Given the description of an element on the screen output the (x, y) to click on. 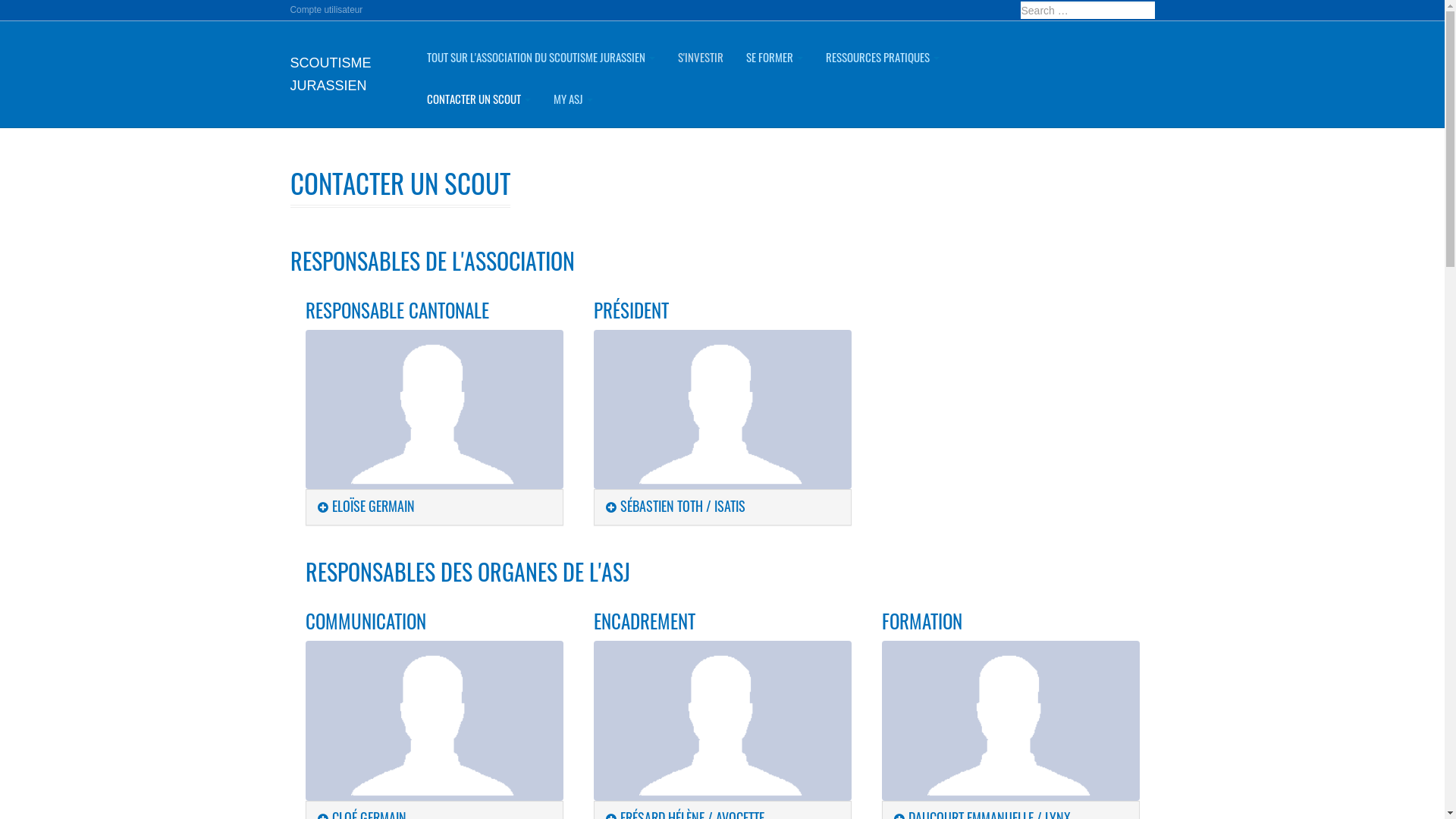
Compte utilisateur Element type: text (325, 9)
SCOUTISME JURASSIEN Element type: text (346, 74)
S'INVESTIR Element type: text (700, 57)
